Given the description of an element on the screen output the (x, y) to click on. 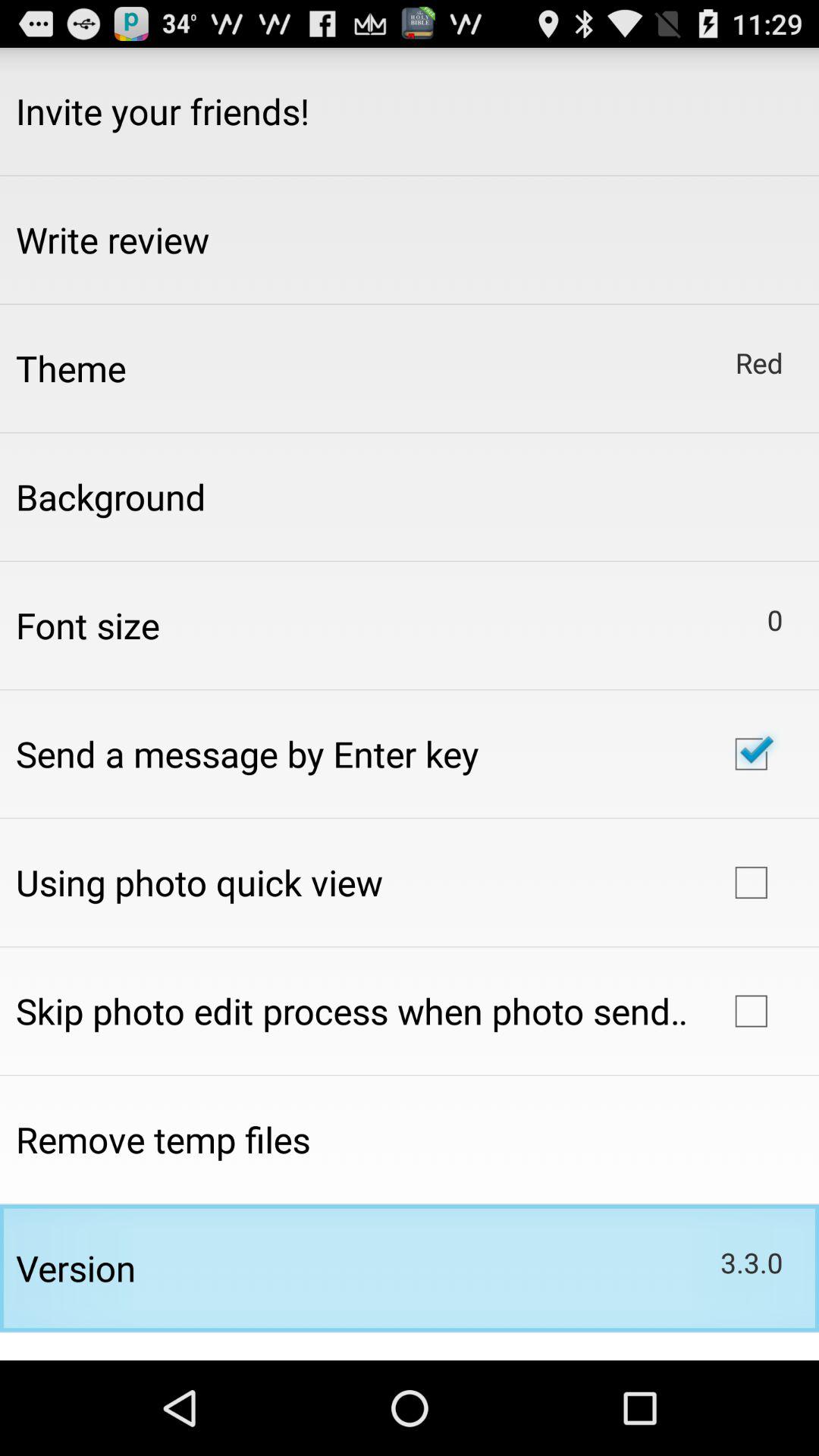
turn on app above the 0 item (759, 362)
